Given the description of an element on the screen output the (x, y) to click on. 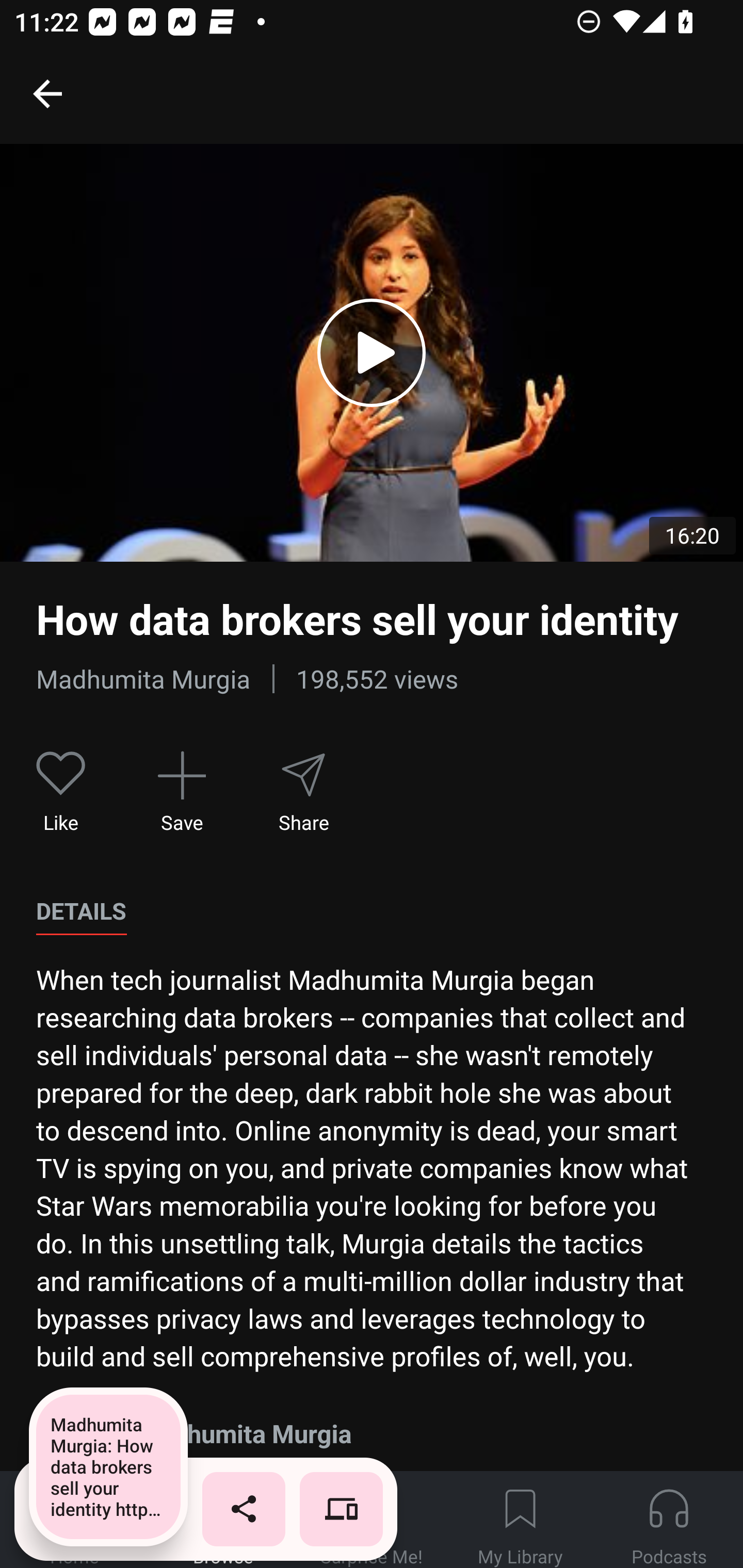
Search, back (47, 92)
Like (60, 793)
Save (181, 793)
Share (302, 793)
DETAILS (80, 911)
My Library (519, 1520)
Podcasts (668, 1520)
